Given the description of an element on the screen output the (x, y) to click on. 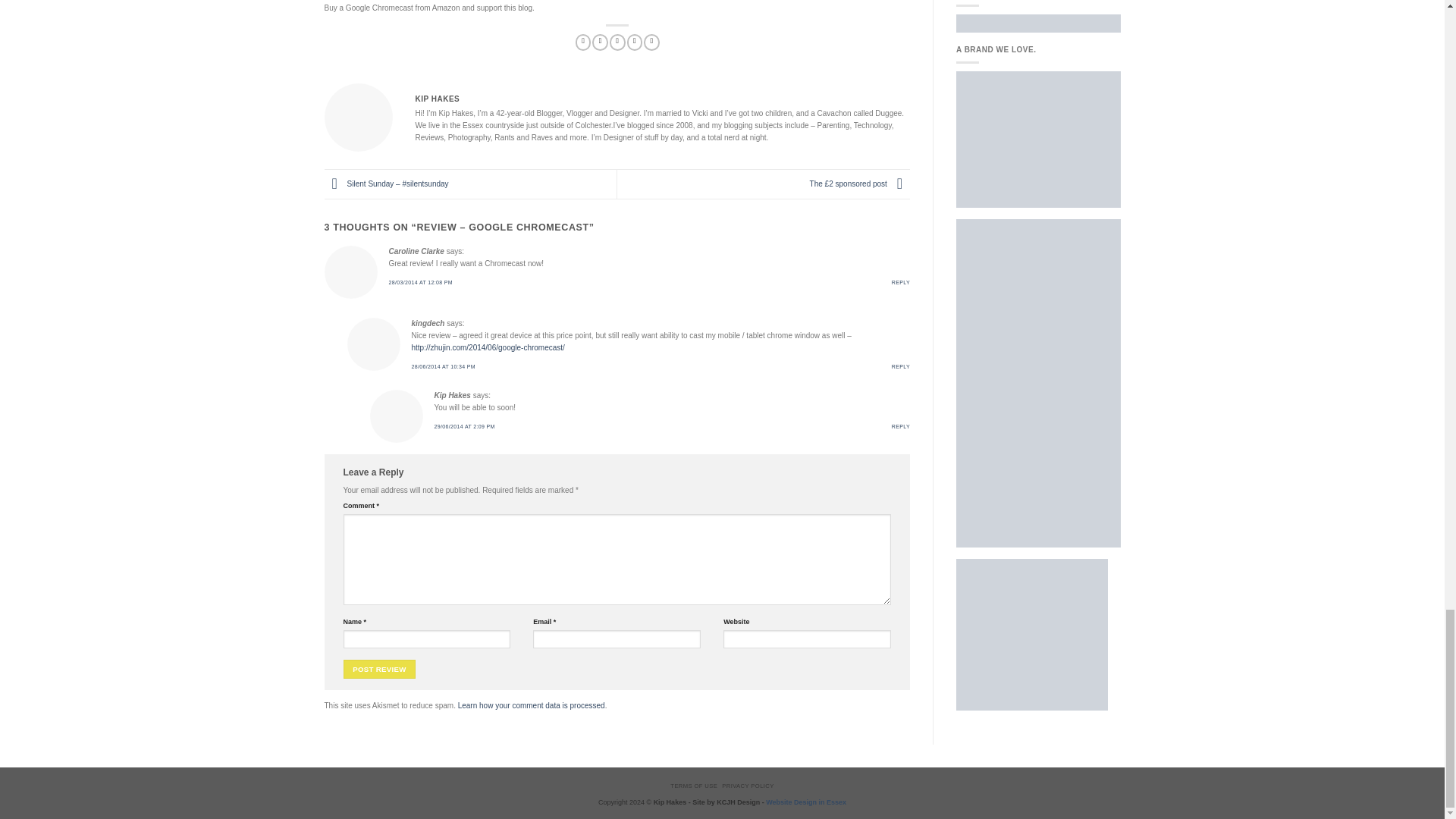
Share on Twitter (600, 42)
Email to a Friend (618, 42)
REPLY (900, 282)
Share on LinkedIn (651, 42)
Post Review (378, 669)
Pin on Pinterest (635, 42)
Share on Facebook (583, 42)
